Given the description of an element on the screen output the (x, y) to click on. 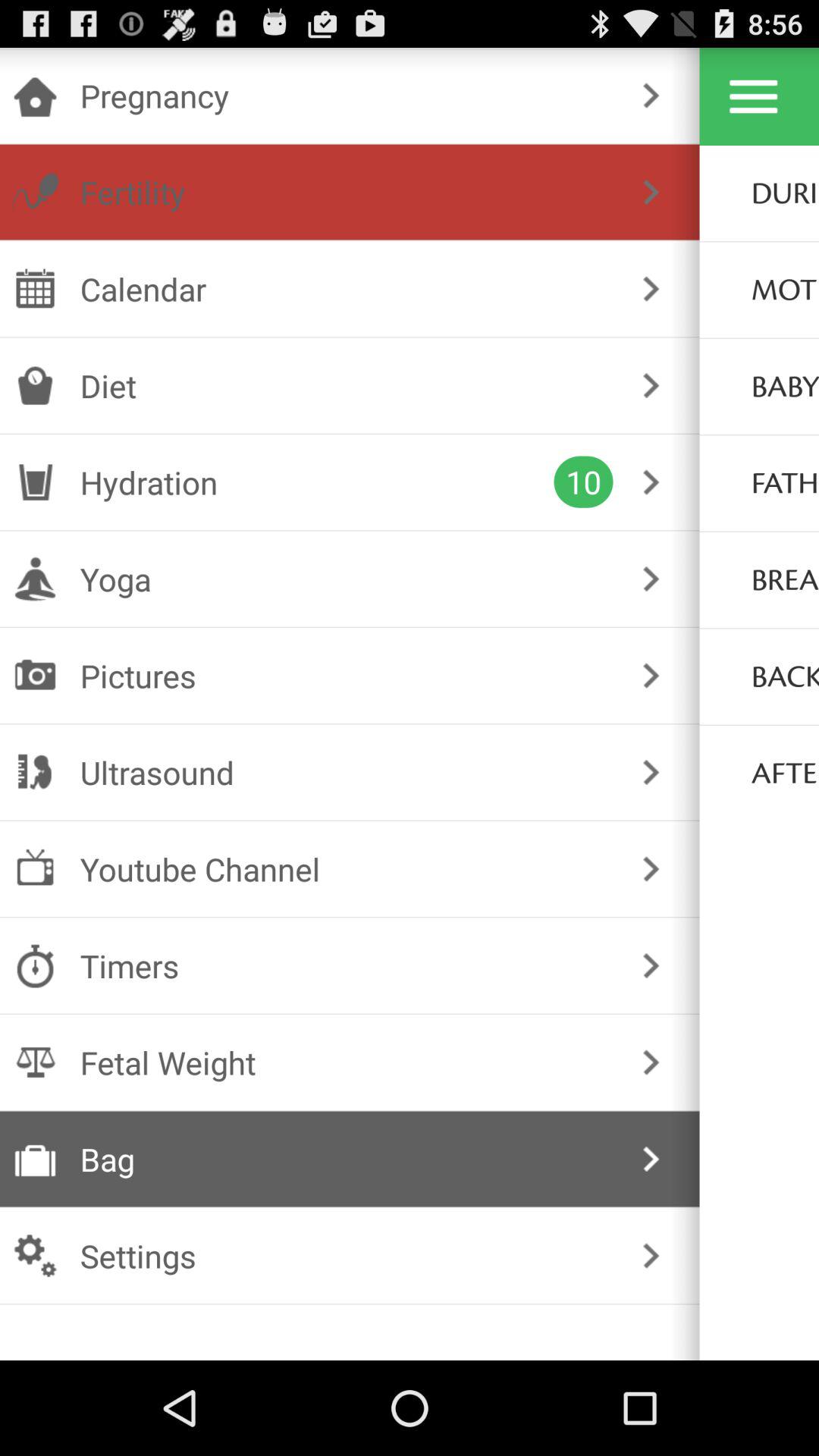
close menu (753, 96)
